Given the description of an element on the screen output the (x, y) to click on. 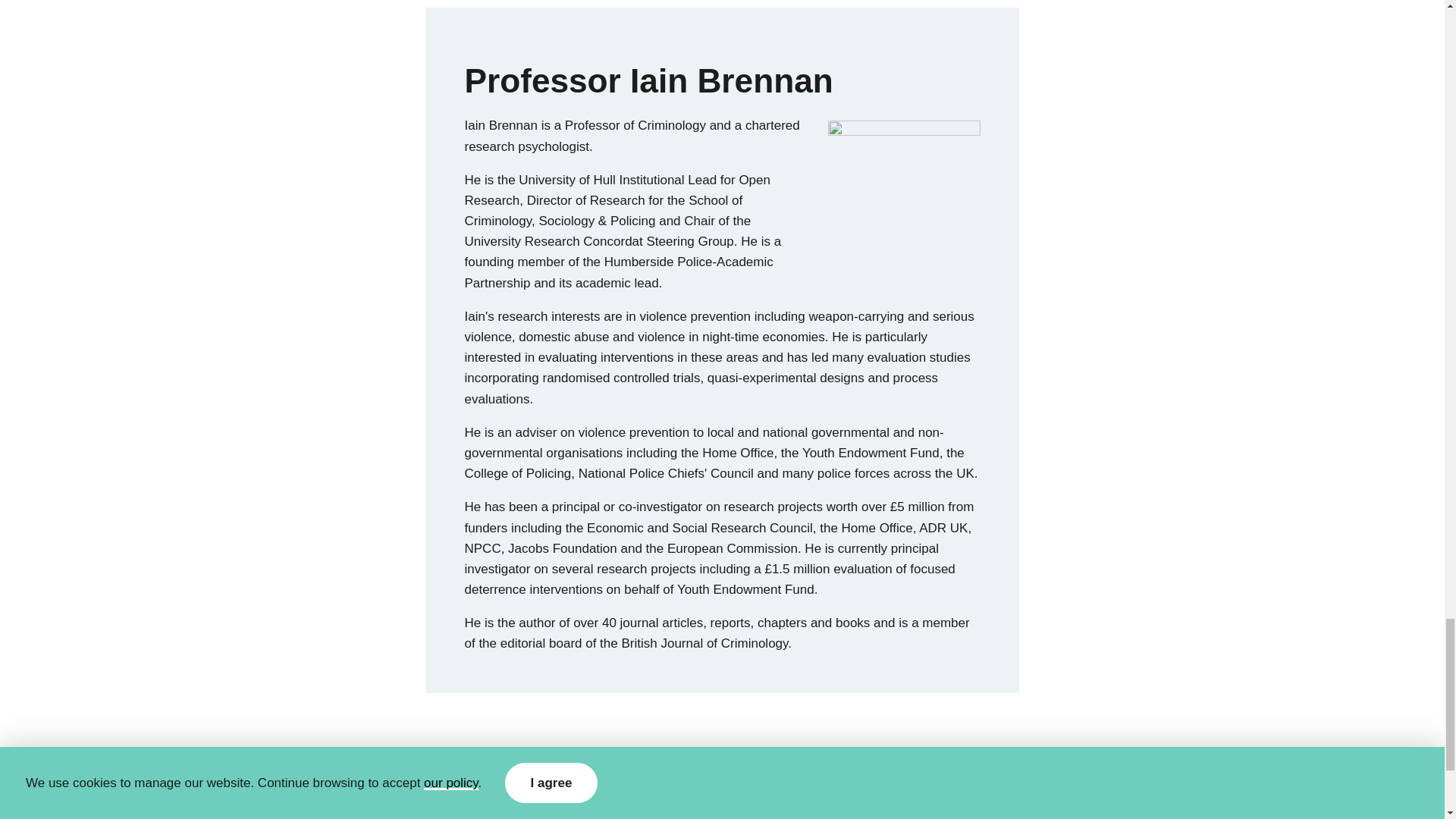
Requesting Information (449, 802)
Search (739, 802)
Search (739, 802)
Sitemap (684, 802)
Requesting Information (449, 802)
Accessibility Statement (587, 802)
ADR UK on LinkedIn (1124, 804)
Accessibility Statement (587, 802)
Sitemap (684, 802)
